Given the description of an element on the screen output the (x, y) to click on. 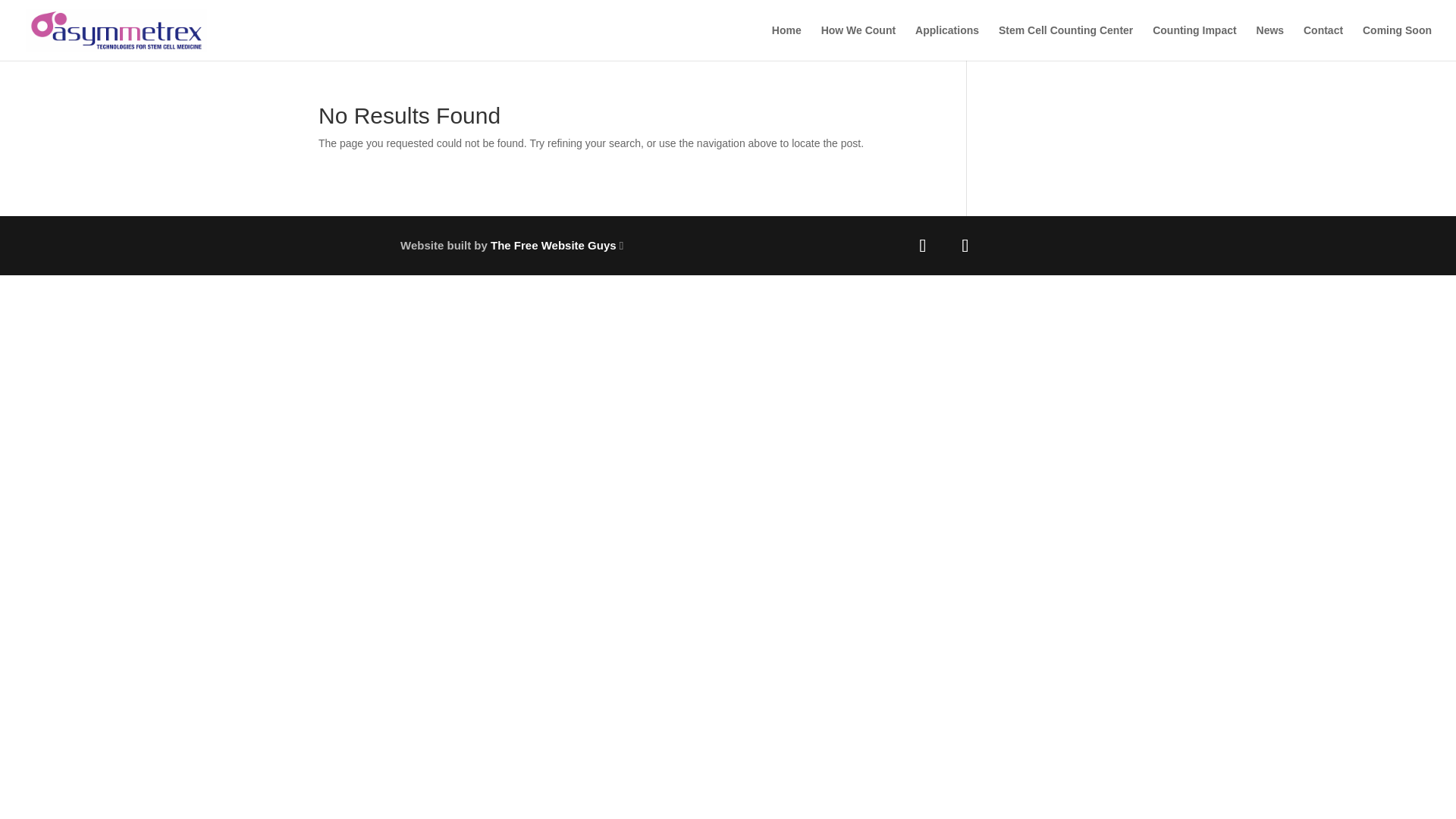
Stem Cell Counting Center (1065, 42)
Applications (946, 42)
How We Count (858, 42)
The Free Website Guys (552, 245)
Follow on Instagram (965, 245)
Counting Impact (1194, 42)
Coming Soon (1396, 42)
Follow on Facebook (922, 245)
Contact (1322, 42)
